Given the description of an element on the screen output the (x, y) to click on. 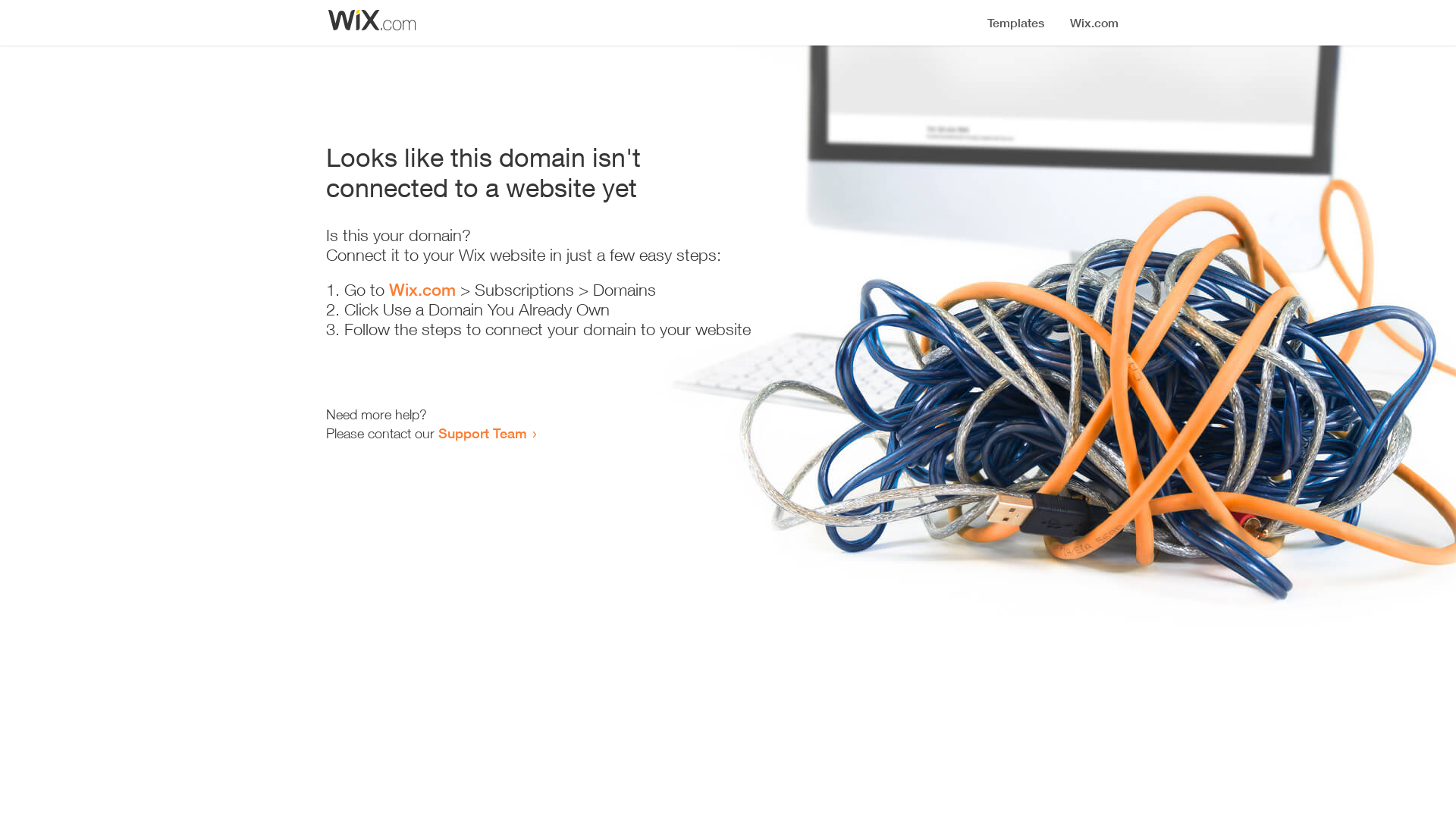
Wix.com Element type: text (422, 289)
Support Team Element type: text (482, 432)
